Given the description of an element on the screen output the (x, y) to click on. 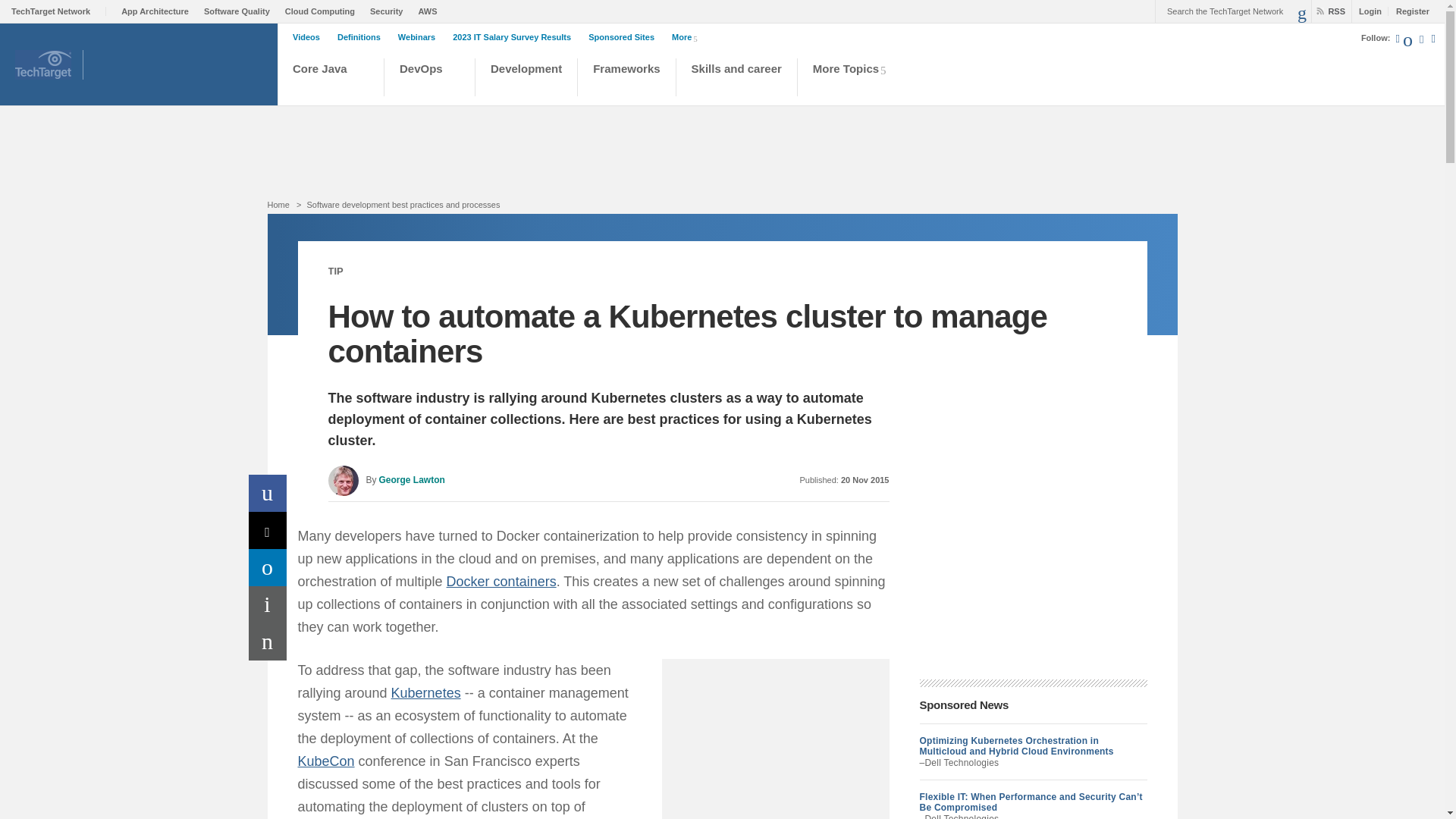
Cloud Computing (323, 10)
Email a Friend (267, 641)
Definitions (362, 36)
Development (526, 79)
Security (389, 10)
Videos (309, 36)
Webinars (419, 36)
More (687, 36)
Register (1408, 10)
TechTarget Network (58, 10)
Frameworks (625, 79)
Share on X (267, 529)
Skills and career (736, 79)
Sponsored Sites (625, 36)
AWS (430, 10)
